Given the description of an element on the screen output the (x, y) to click on. 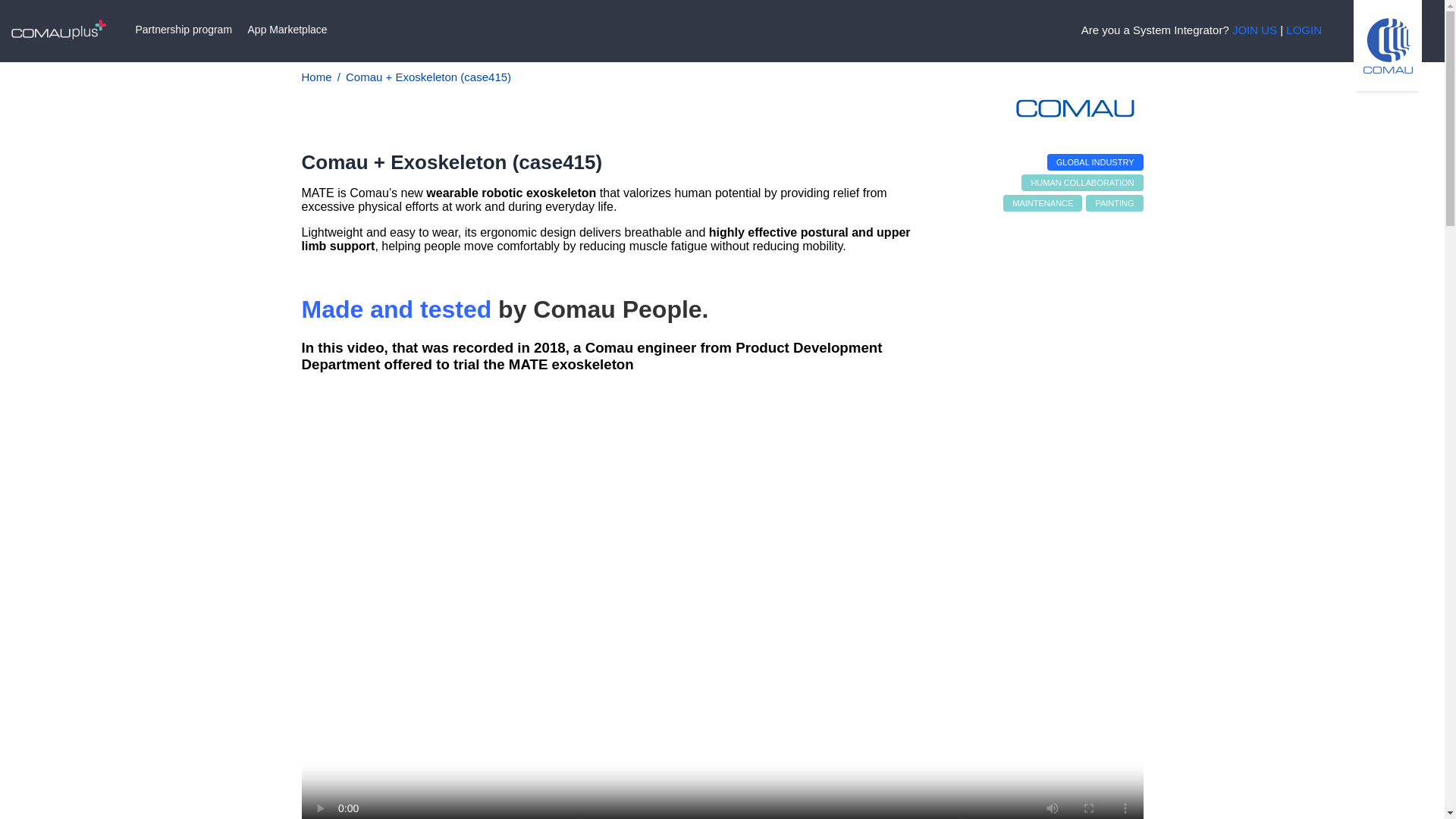
Human collaboration (1082, 182)
Painting (1114, 202)
Partnership program (183, 29)
App Marketplace (287, 29)
Global Industry (1094, 161)
GLOBAL INDUSTRY (1094, 161)
HUMAN COLLABORATION (1082, 182)
App Marketplace (287, 29)
Maintenance (1042, 202)
MAINTENANCE (1042, 202)
Comau (1074, 115)
PAINTING (1114, 202)
Home (316, 76)
JOIN US (1253, 29)
Partnership program (183, 29)
